Given the description of an element on the screen output the (x, y) to click on. 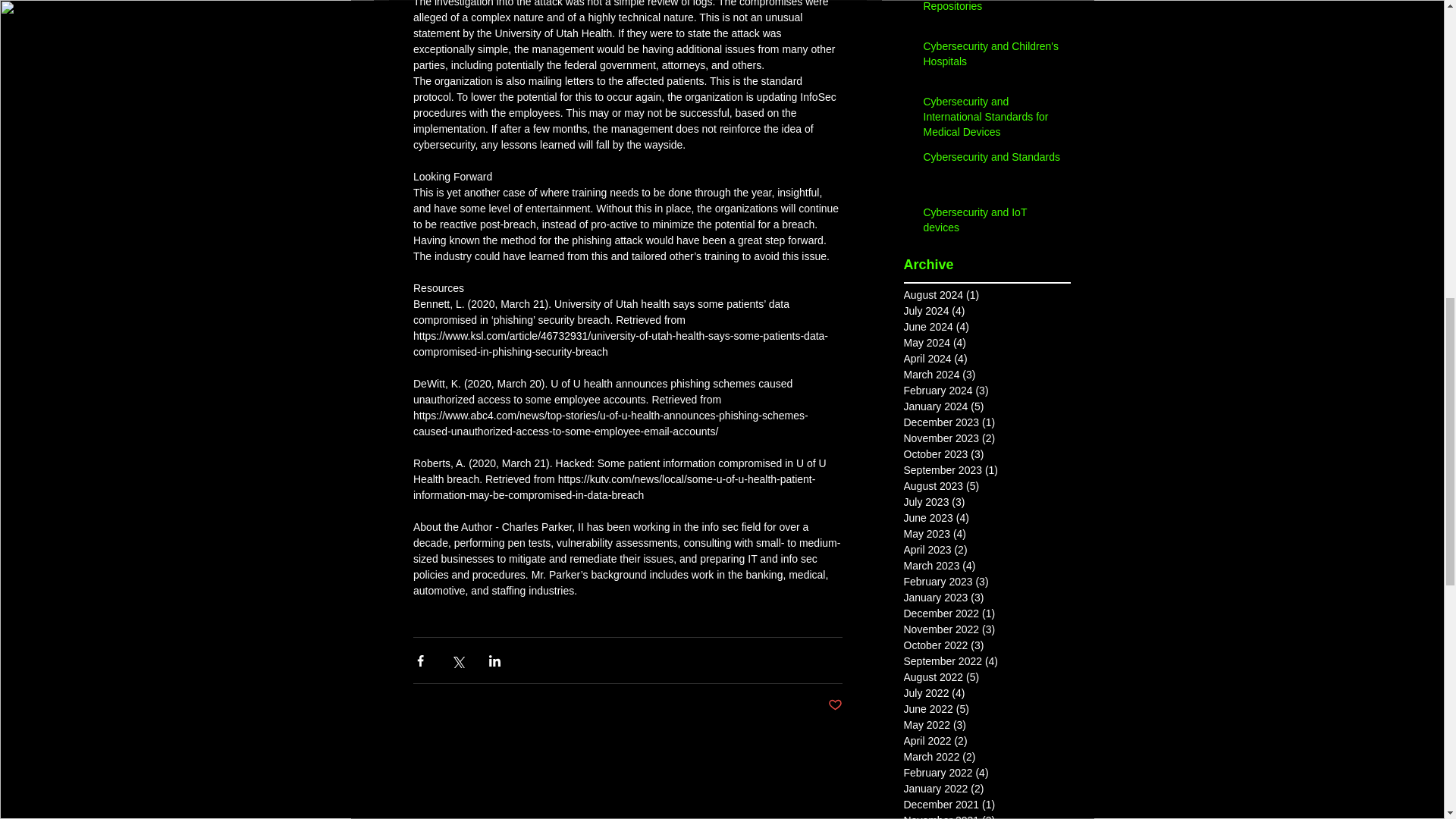
Cybersecurity and IoT devices (992, 222)
Cybersecurity and Repositories (992, 9)
Post not marked as liked (835, 705)
Cybersecurity and Children's Hospitals (992, 57)
Cybersecurity and Standards (992, 160)
